Given the description of an element on the screen output the (x, y) to click on. 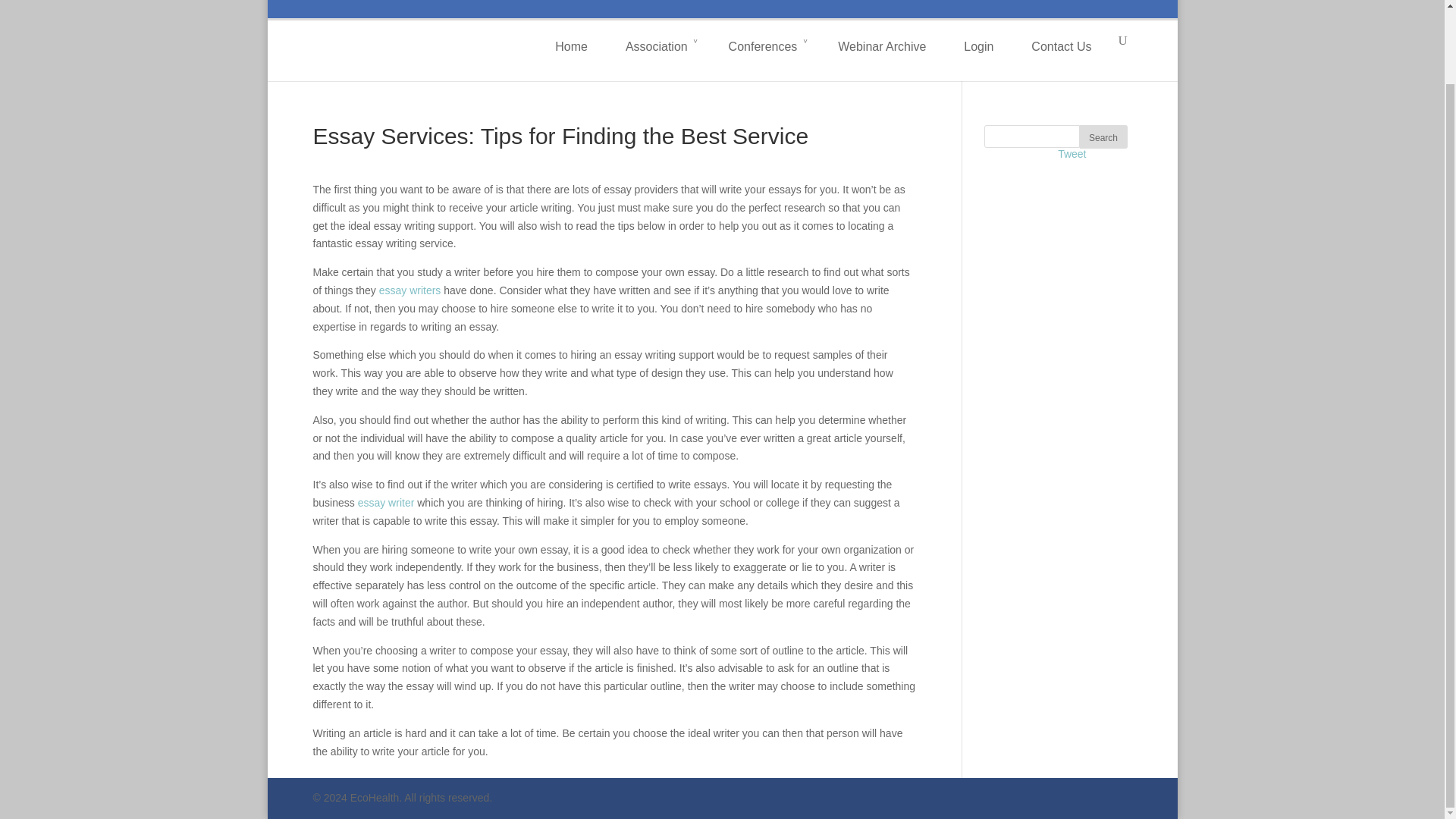
Search (1103, 136)
